Given the description of an element on the screen output the (x, y) to click on. 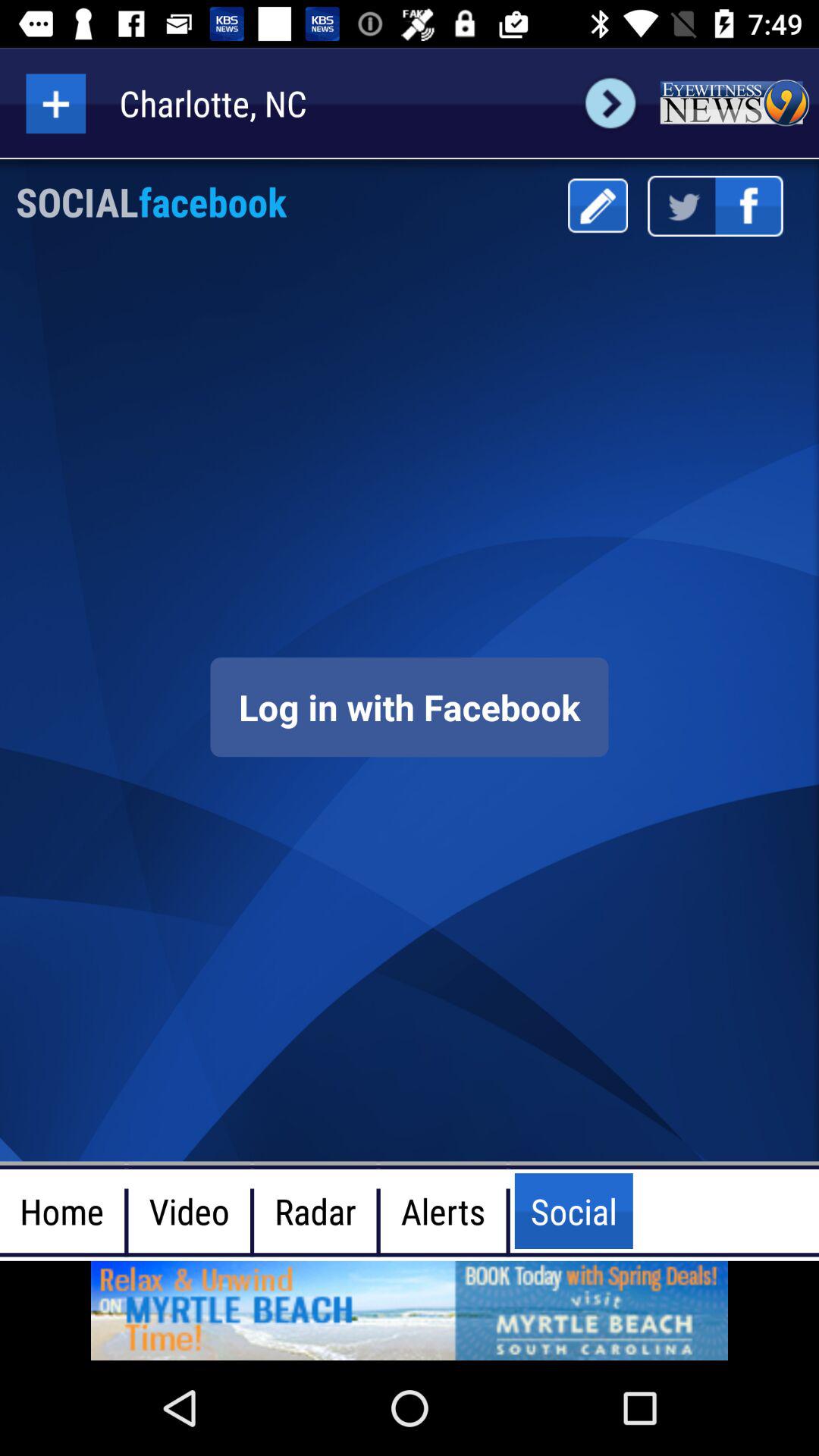
log in (409, 707)
